Given the description of an element on the screen output the (x, y) to click on. 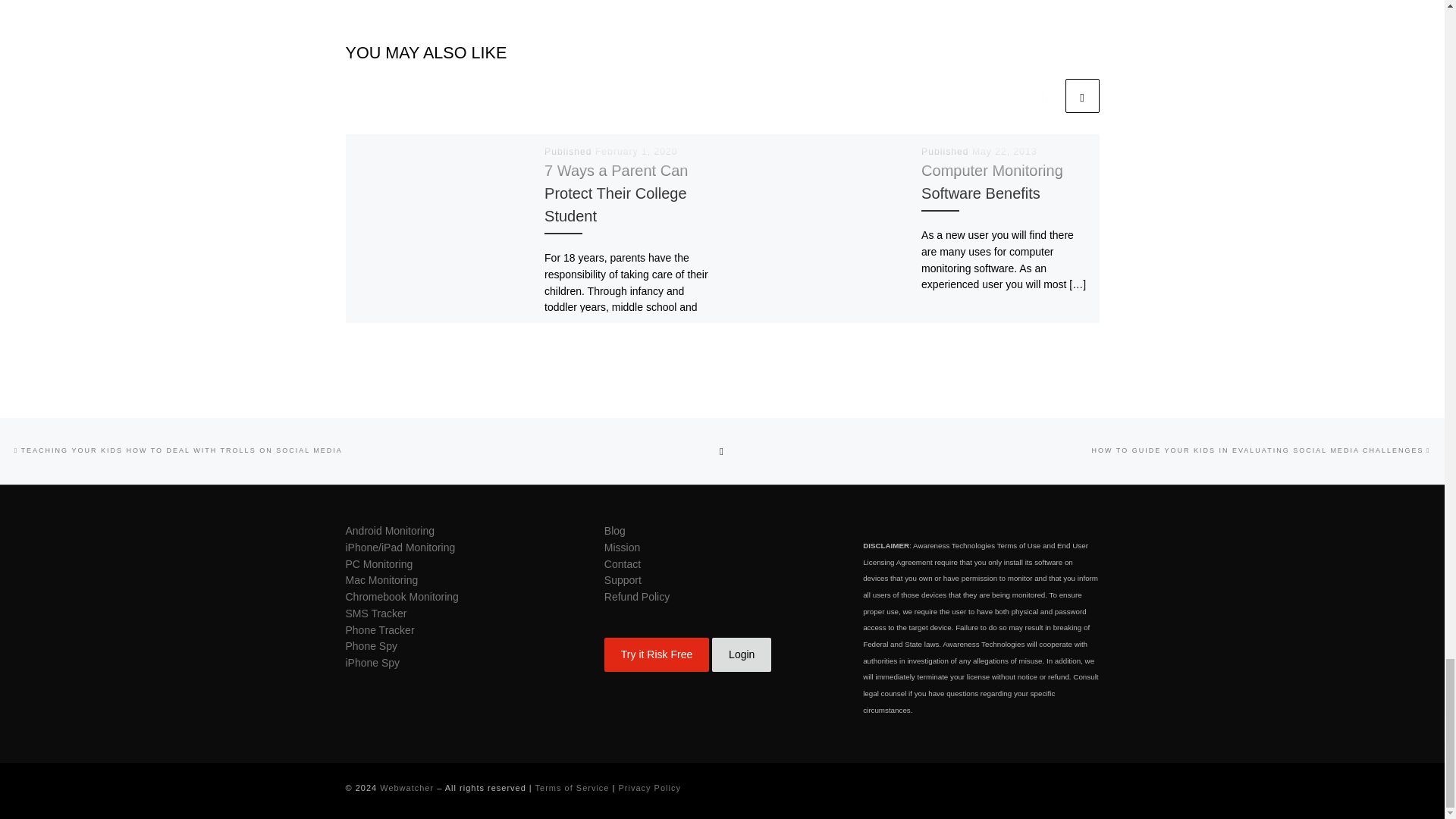
Next related articles (1081, 95)
7 Ways a Parent Can Protect Their College Student (615, 193)
Computer Monitoring Software Benefits (991, 181)
May 22, 2013 (1004, 151)
February 1, 2020 (636, 151)
Webwatcher (406, 787)
Previous related articles (1044, 95)
